Given the description of an element on the screen output the (x, y) to click on. 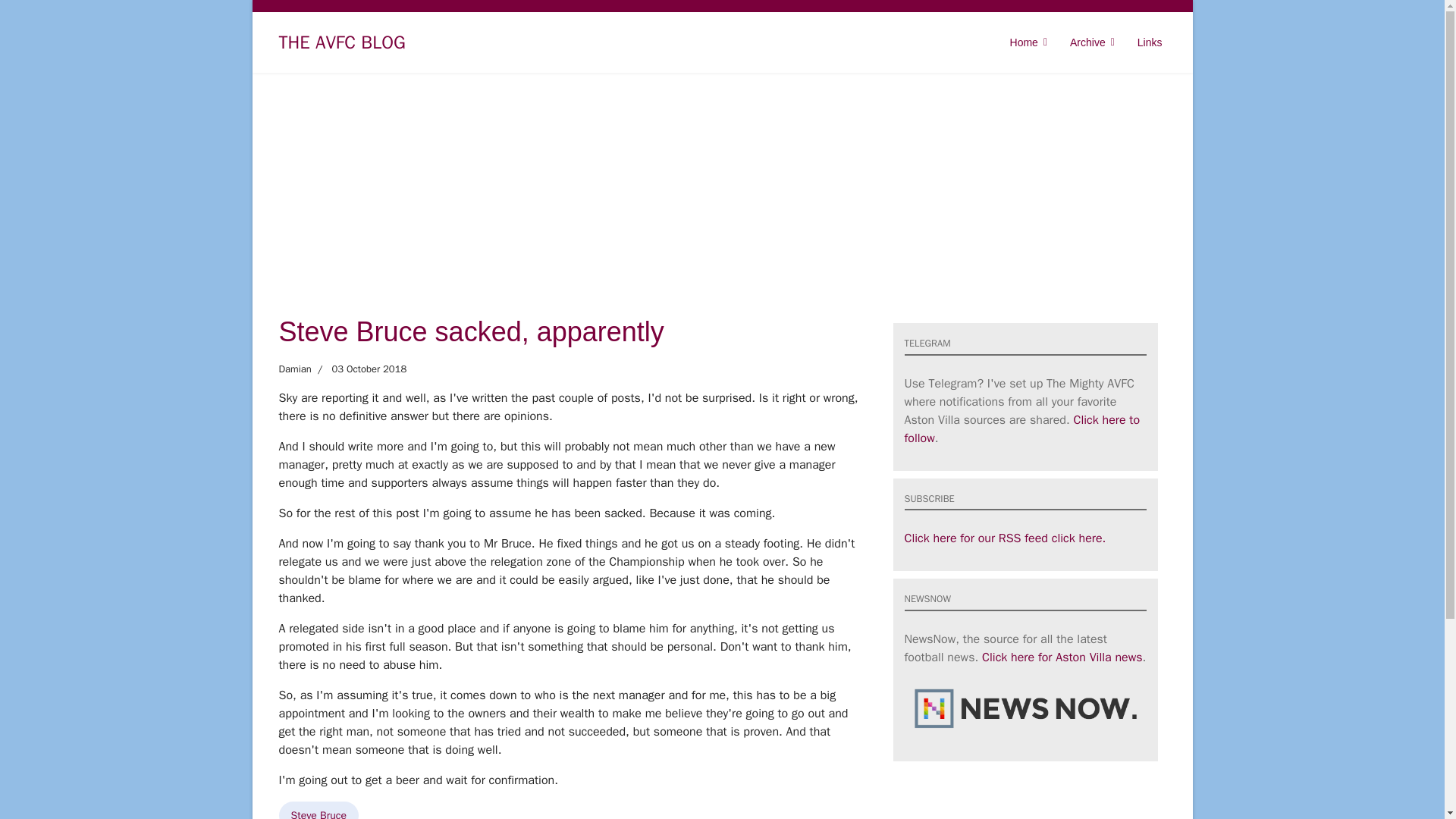
Archive (1091, 42)
THE AVFC BLOG (342, 42)
Home (1028, 42)
Published: 03 October 2018 (358, 368)
Click here for Aston Villa news (1061, 657)
Steve Bruce (319, 810)
Written by: Damian (295, 368)
Click here to follow (1022, 428)
Click here for our RSS feed click here. (1004, 538)
